Given the description of an element on the screen output the (x, y) to click on. 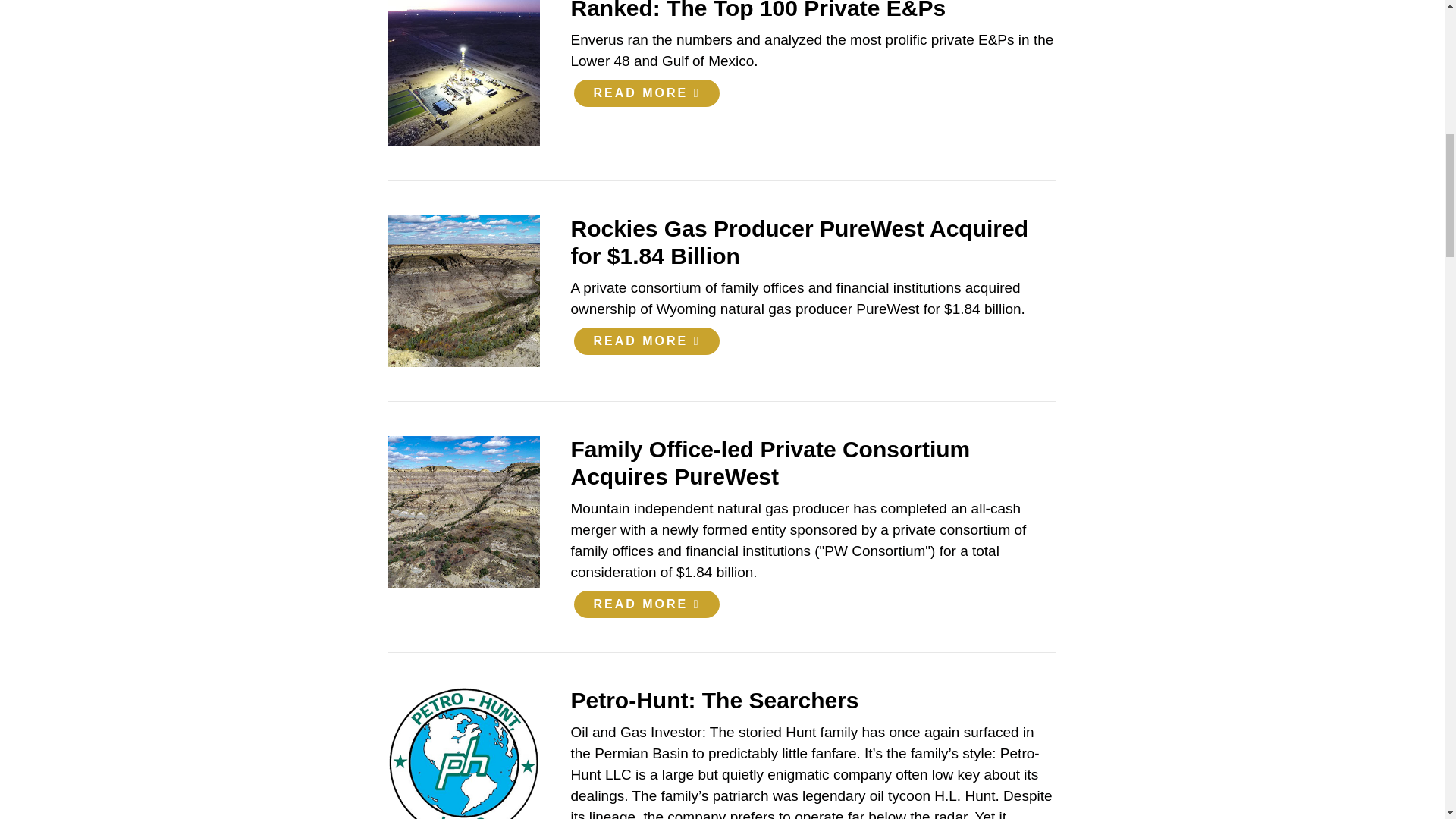
READ MORE (646, 602)
READ MORE (646, 340)
READ MORE (646, 91)
